Given the description of an element on the screen output the (x, y) to click on. 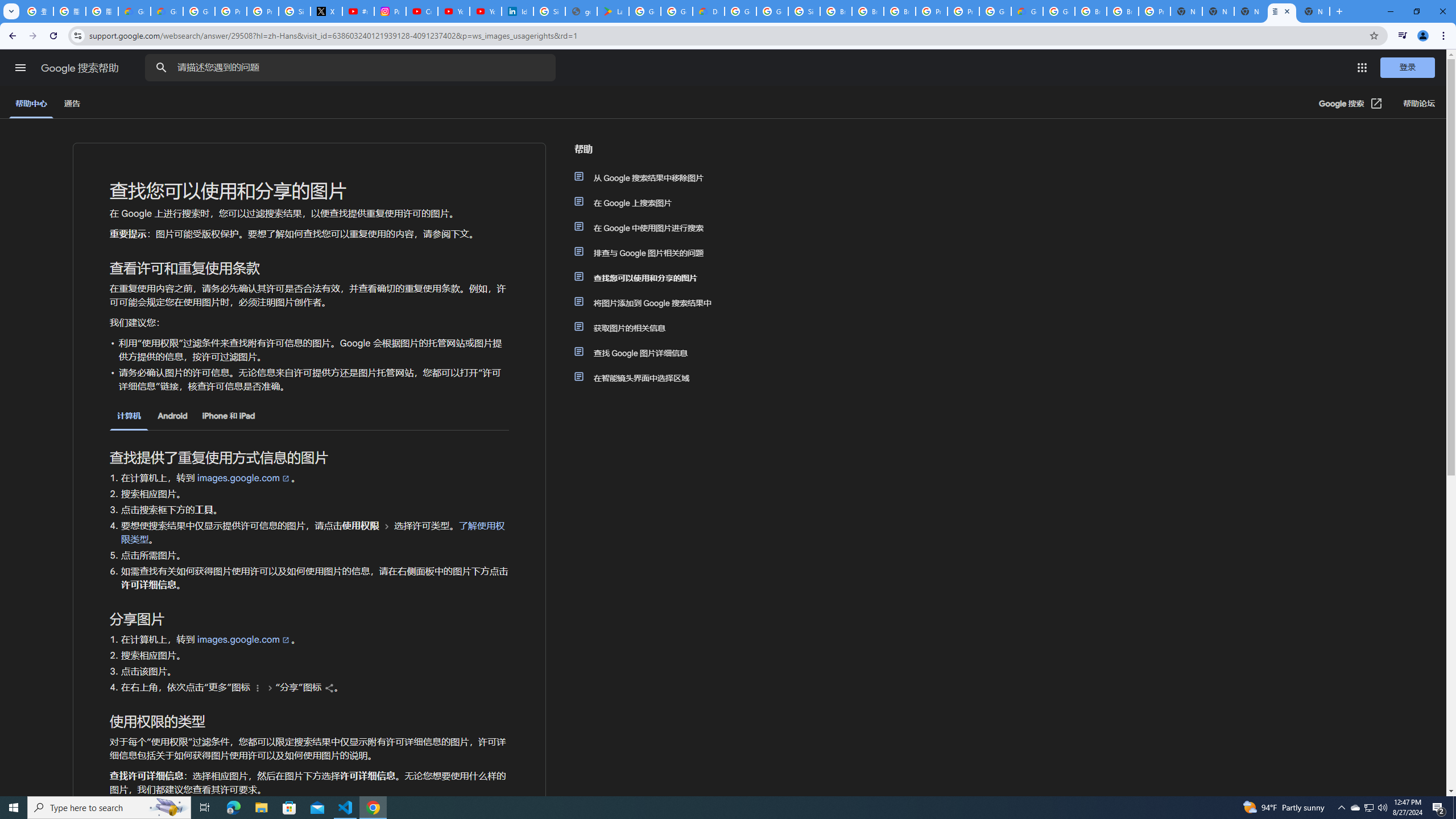
New Tab (1185, 11)
View site information (77, 35)
Restore (1416, 11)
Google Cloud Platform (1059, 11)
Browse Chrome as a guest - Computer - Google Chrome Help (1091, 11)
Control your music, videos, and more (1402, 35)
